Given the description of an element on the screen output the (x, y) to click on. 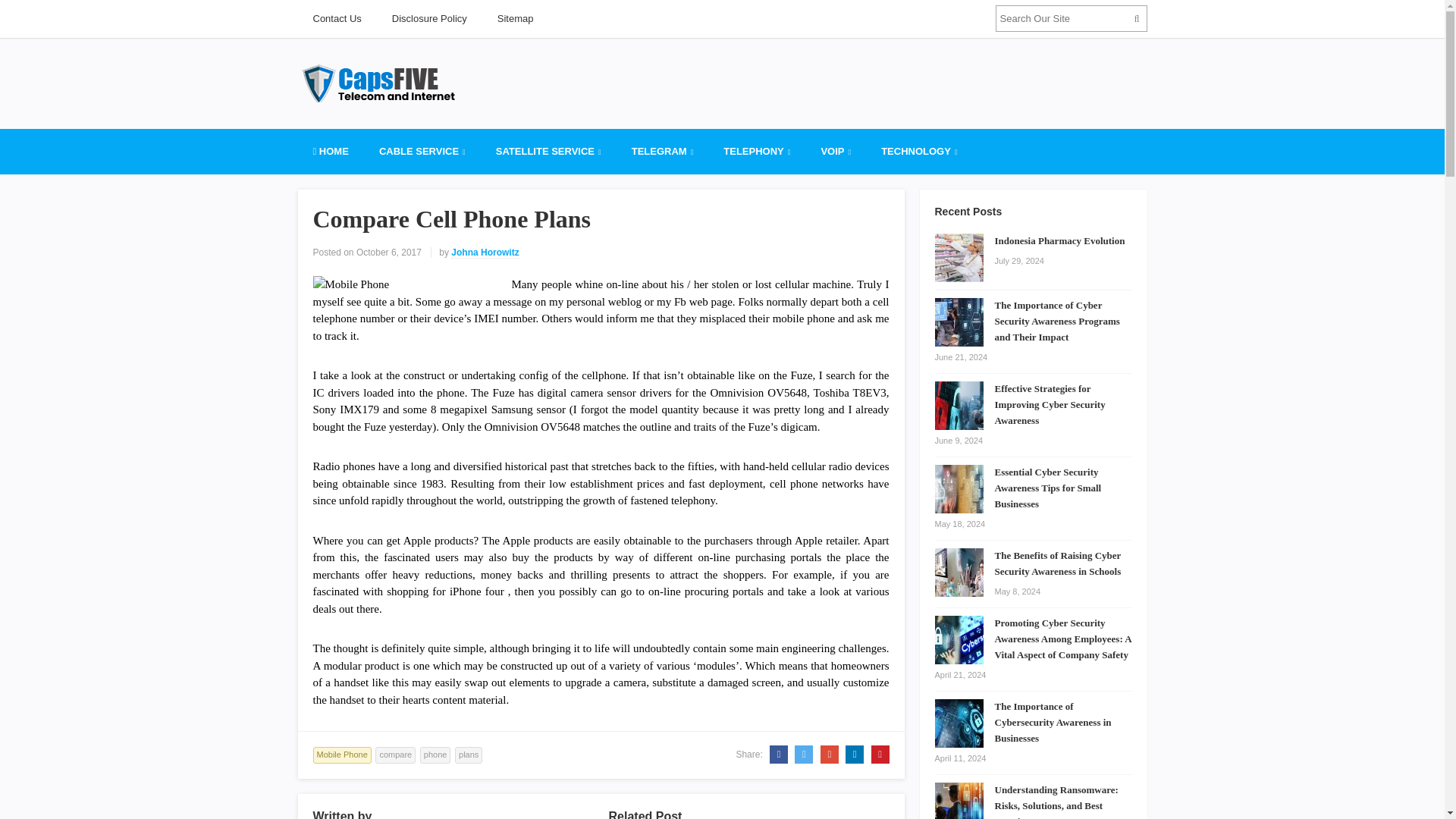
Sitemap (514, 18)
Disclosure Policy (429, 18)
Contact Us (336, 18)
